Given the description of an element on the screen output the (x, y) to click on. 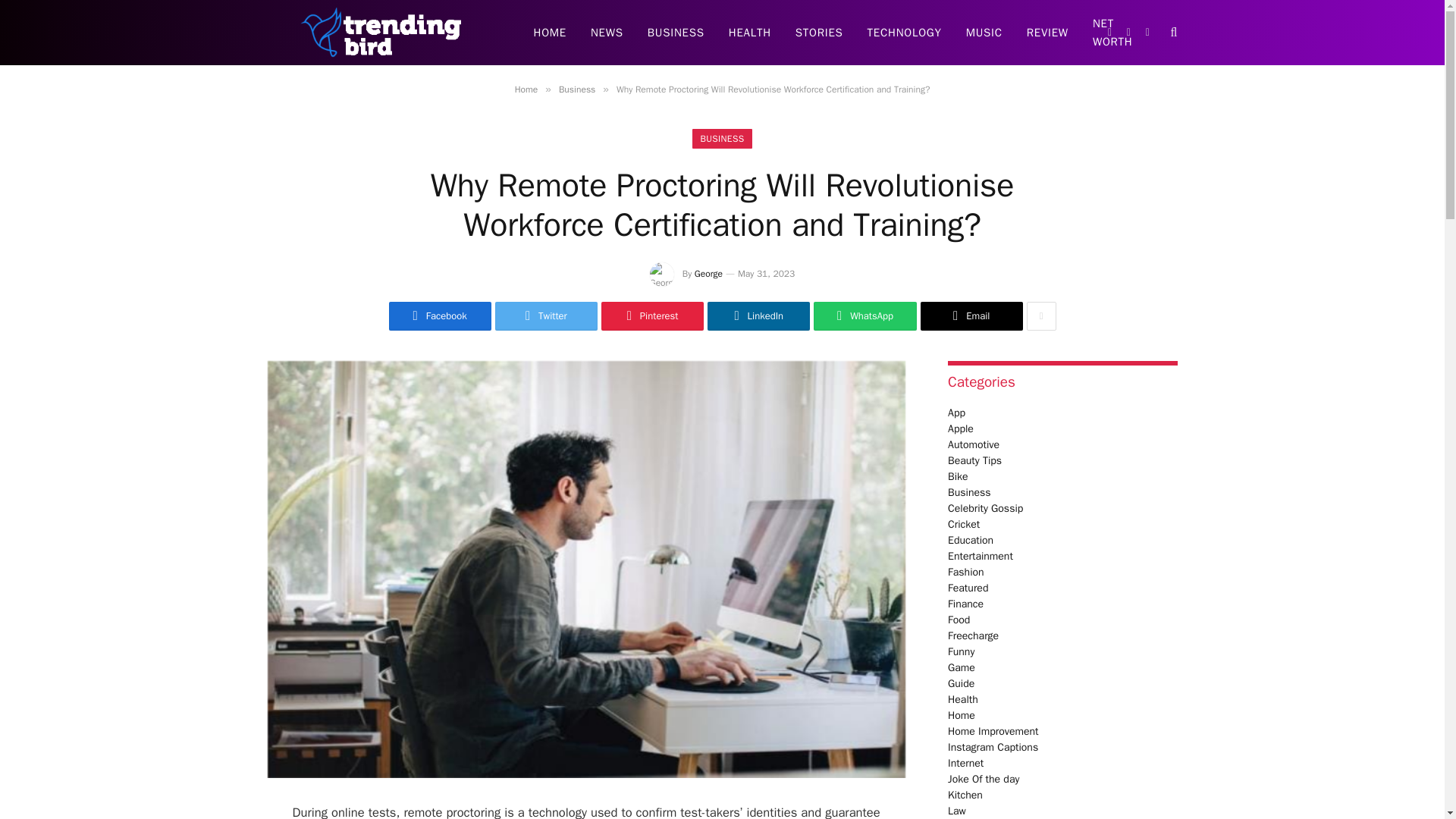
Posts by George (708, 273)
Share via Email (971, 316)
NET WORTH (1112, 32)
HEALTH (749, 32)
Home (526, 89)
Share on Pinterest (652, 316)
Show More Social Sharing (1041, 316)
LinkedIn (758, 316)
BUSINESS (722, 138)
Email (971, 316)
WhatsApp (864, 316)
Trendingbird (380, 32)
BUSINESS (675, 32)
Share on Facebook (439, 316)
Twitter (545, 316)
